Given the description of an element on the screen output the (x, y) to click on. 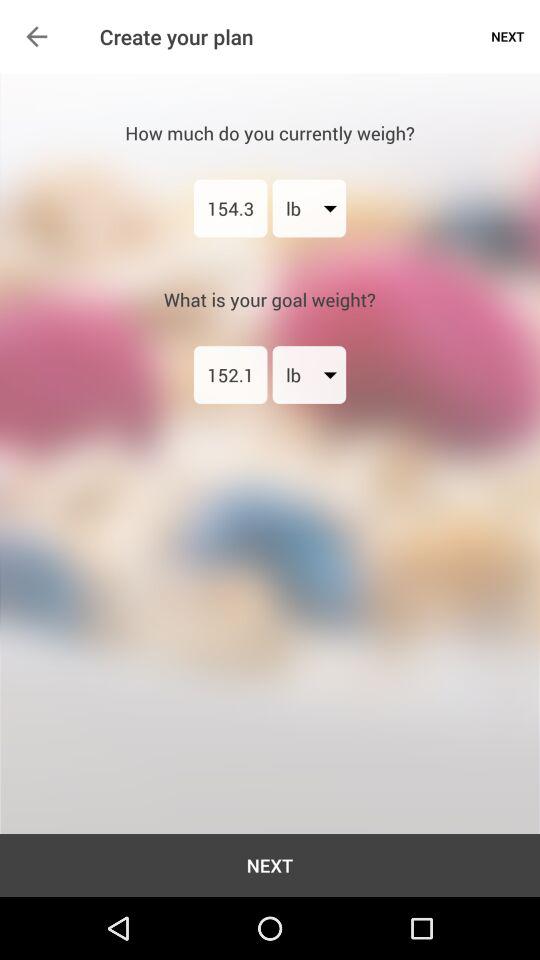
turn on icon next to the create your plan item (36, 36)
